Given the description of an element on the screen output the (x, y) to click on. 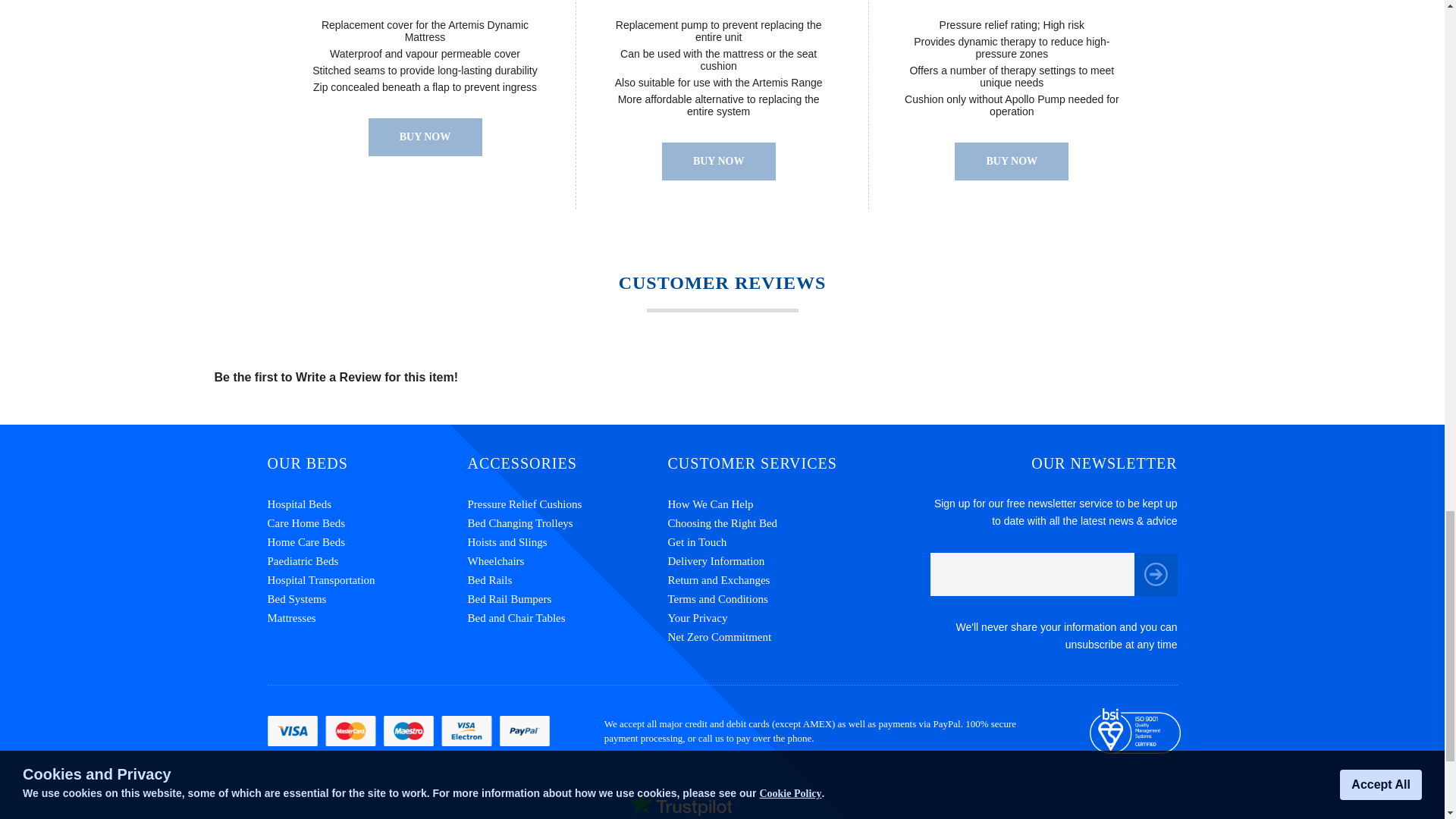
Care Home Beds (366, 523)
Hospital Transportation (366, 579)
Pressure Relief Cushions (566, 504)
BUY NOW (424, 136)
Write a Review (338, 377)
Bed Changing Trolleys (566, 523)
BUY NOW (1011, 161)
BUY NOW (719, 161)
Home Care Beds (366, 542)
Mattresses (366, 618)
Paediatric Beds (366, 561)
Customer reviews powered by Trustpilot (721, 803)
Hospital Beds (366, 504)
Bed Systems (366, 599)
